Given the description of an element on the screen output the (x, y) to click on. 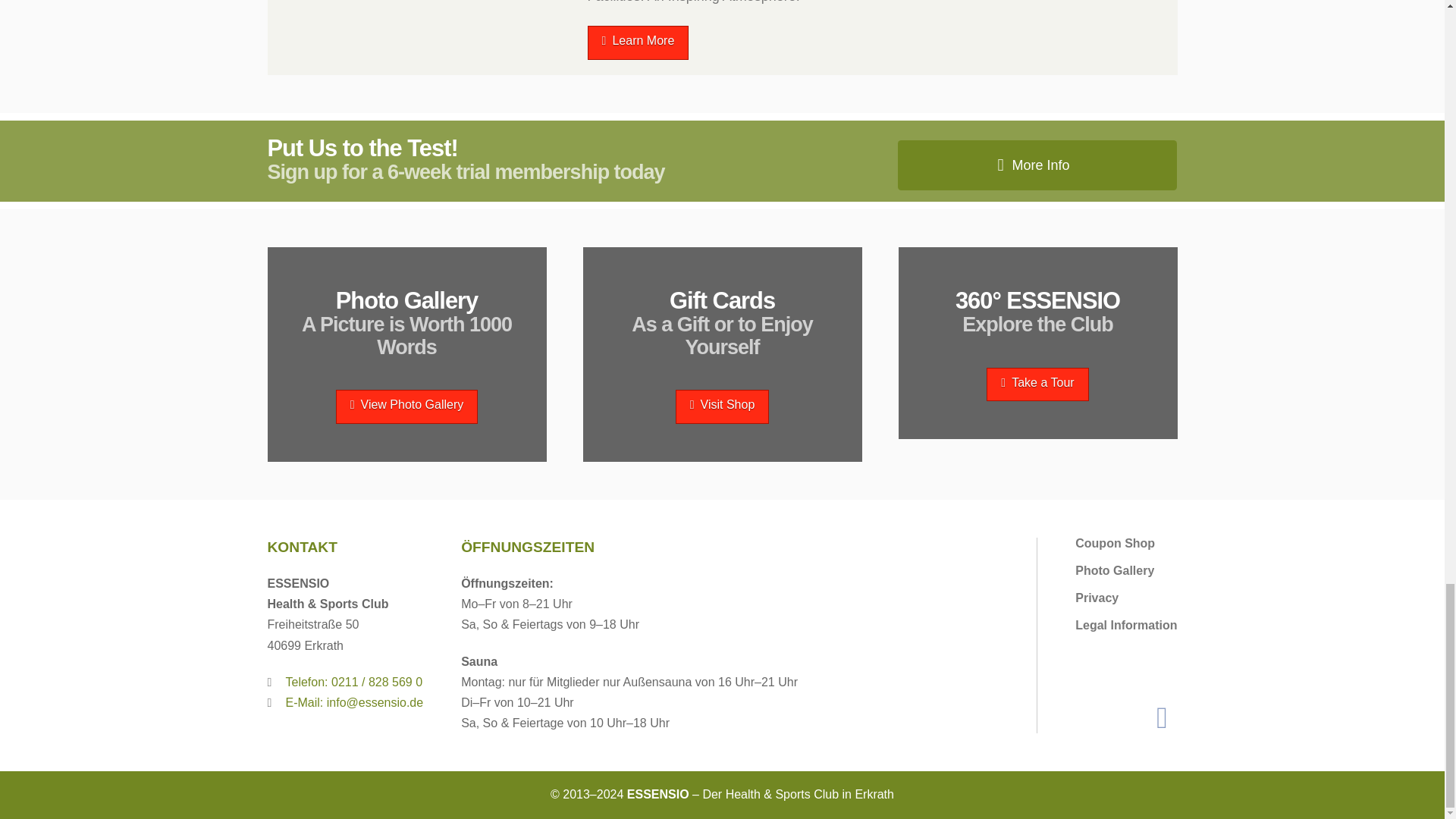
Take a Tour (1037, 384)
Learn More (638, 42)
ESSENSIO Gutschein-Shop (722, 406)
Visit Shop (722, 406)
Coupon Shop (1114, 543)
View Photo Gallery (407, 406)
